Given the description of an element on the screen output the (x, y) to click on. 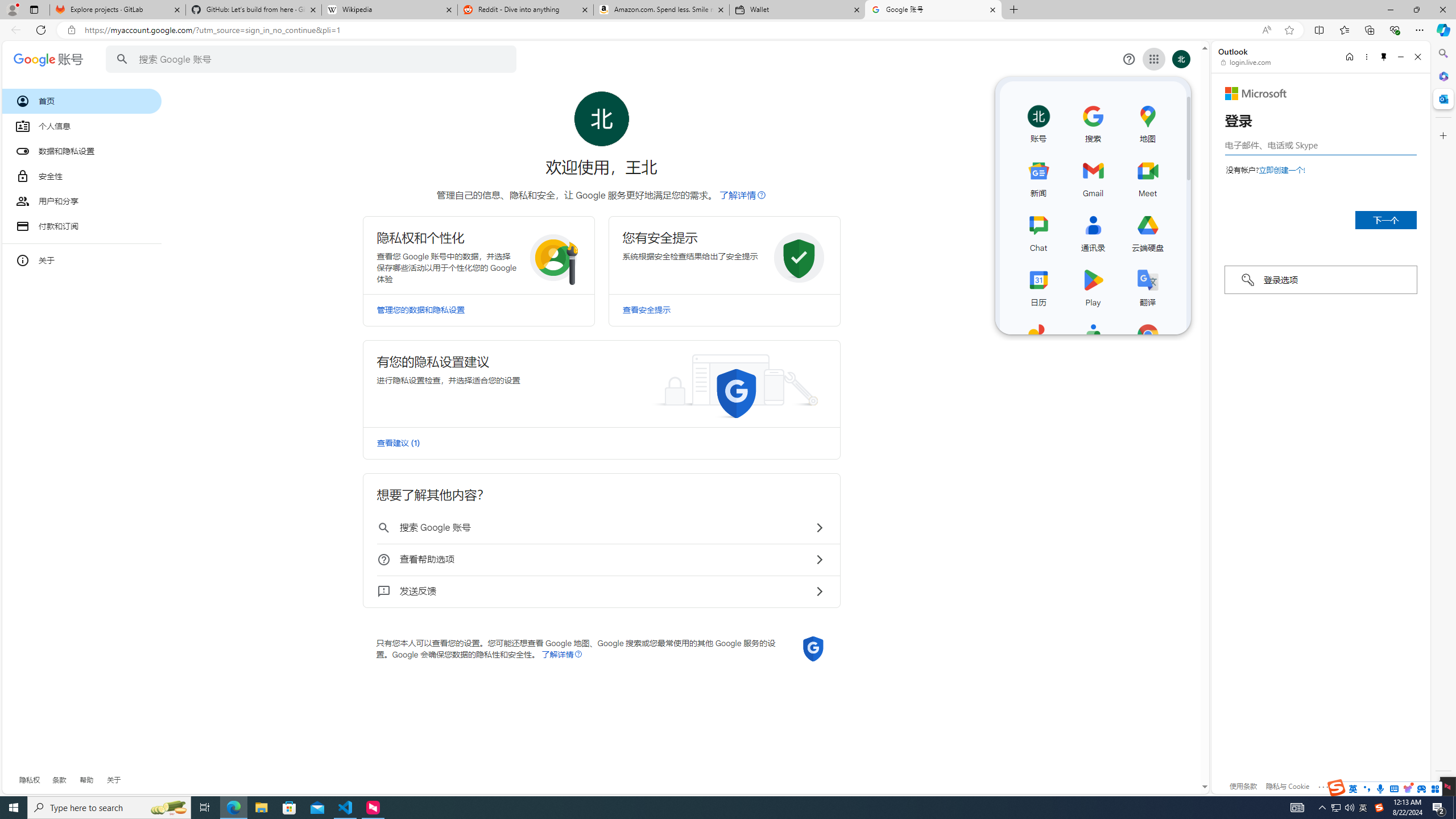
Meet (1147, 176)
